Given the description of an element on the screen output the (x, y) to click on. 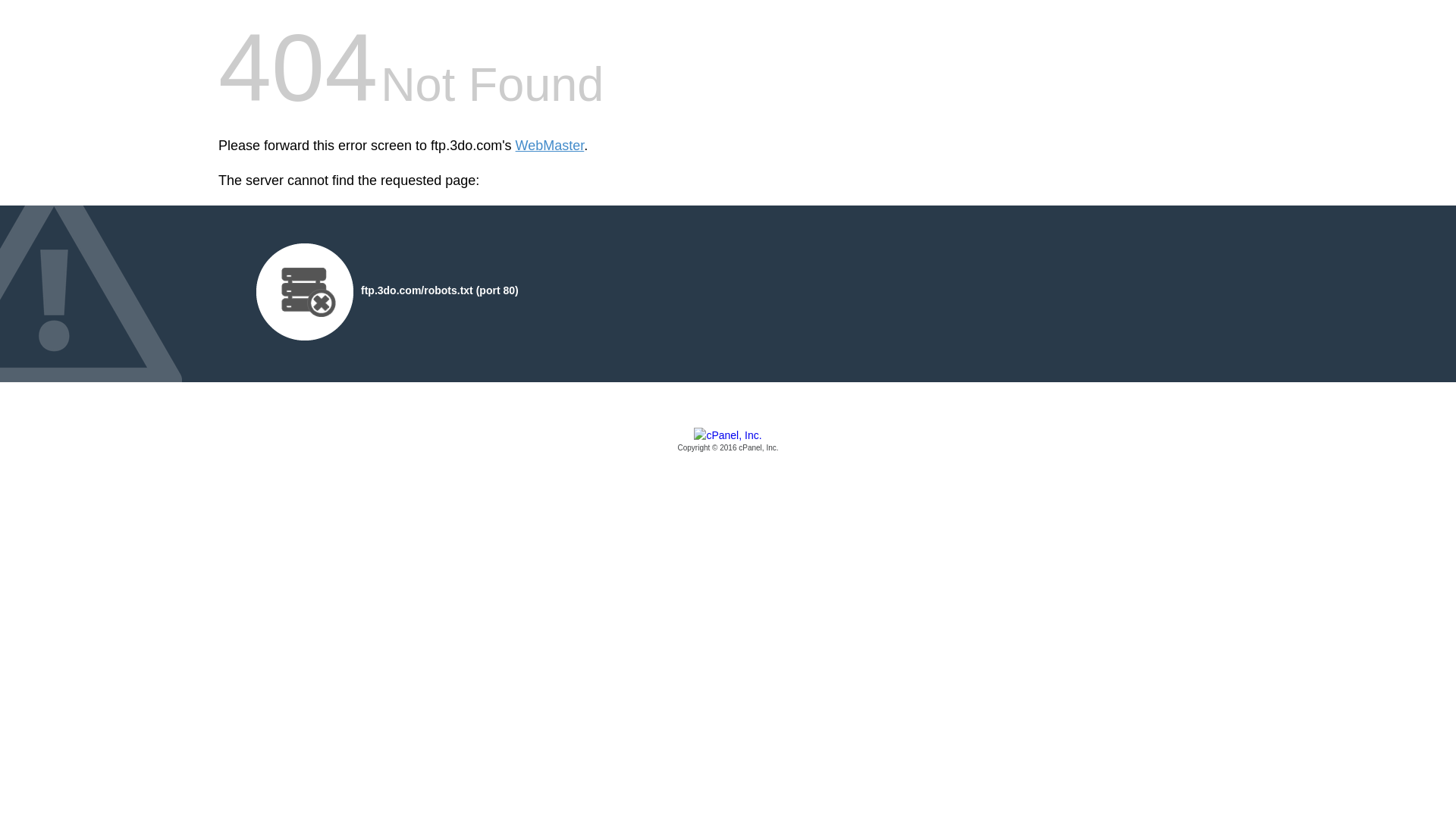
WebMaster Element type: text (549, 145)
